Given the description of an element on the screen output the (x, y) to click on. 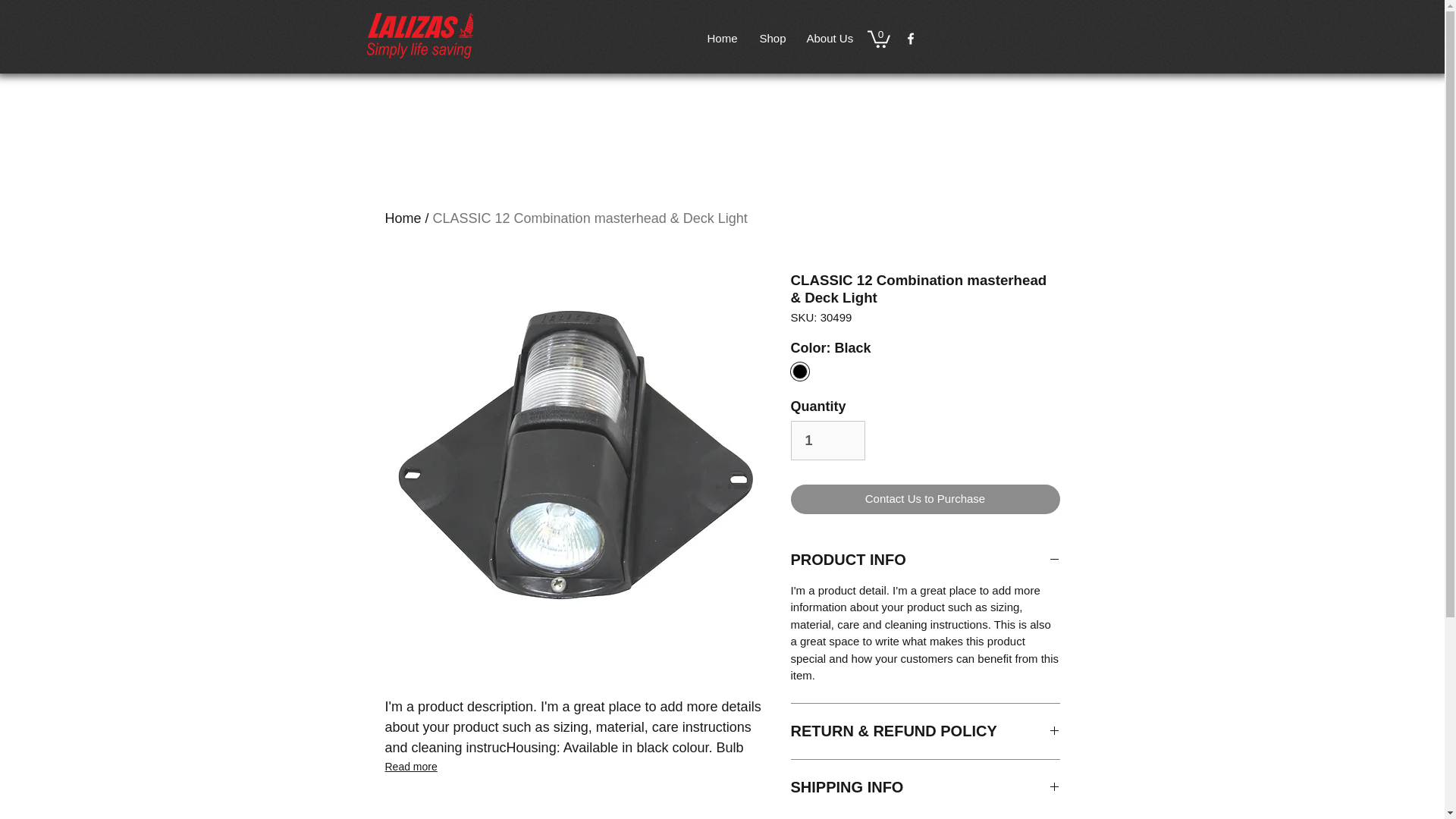
PRODUCT INFO (924, 559)
1 (827, 440)
Contact Us to Purchase (924, 499)
Home (403, 218)
Shop (771, 38)
0 (878, 37)
SHIPPING INFO (924, 787)
About Us (827, 38)
Read more (574, 766)
Home (721, 38)
